Given the description of an element on the screen output the (x, y) to click on. 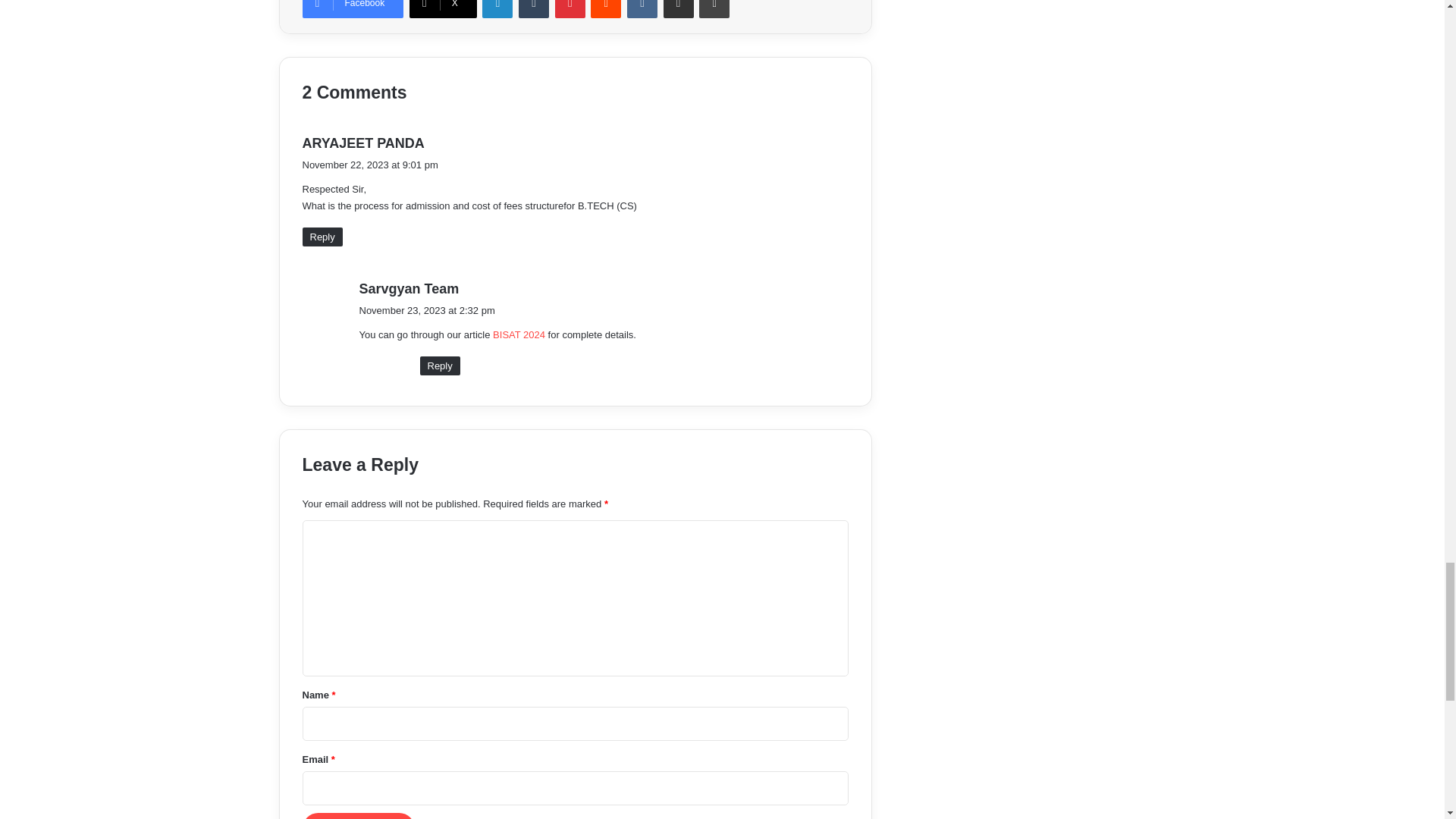
Pinterest (569, 9)
Tumblr (533, 9)
Reddit (606, 9)
Share via Email (678, 9)
X (443, 9)
Facebook (352, 9)
Pinterest (569, 9)
LinkedIn (496, 9)
LinkedIn (496, 9)
VKontakte (642, 9)
